Given the description of an element on the screen output the (x, y) to click on. 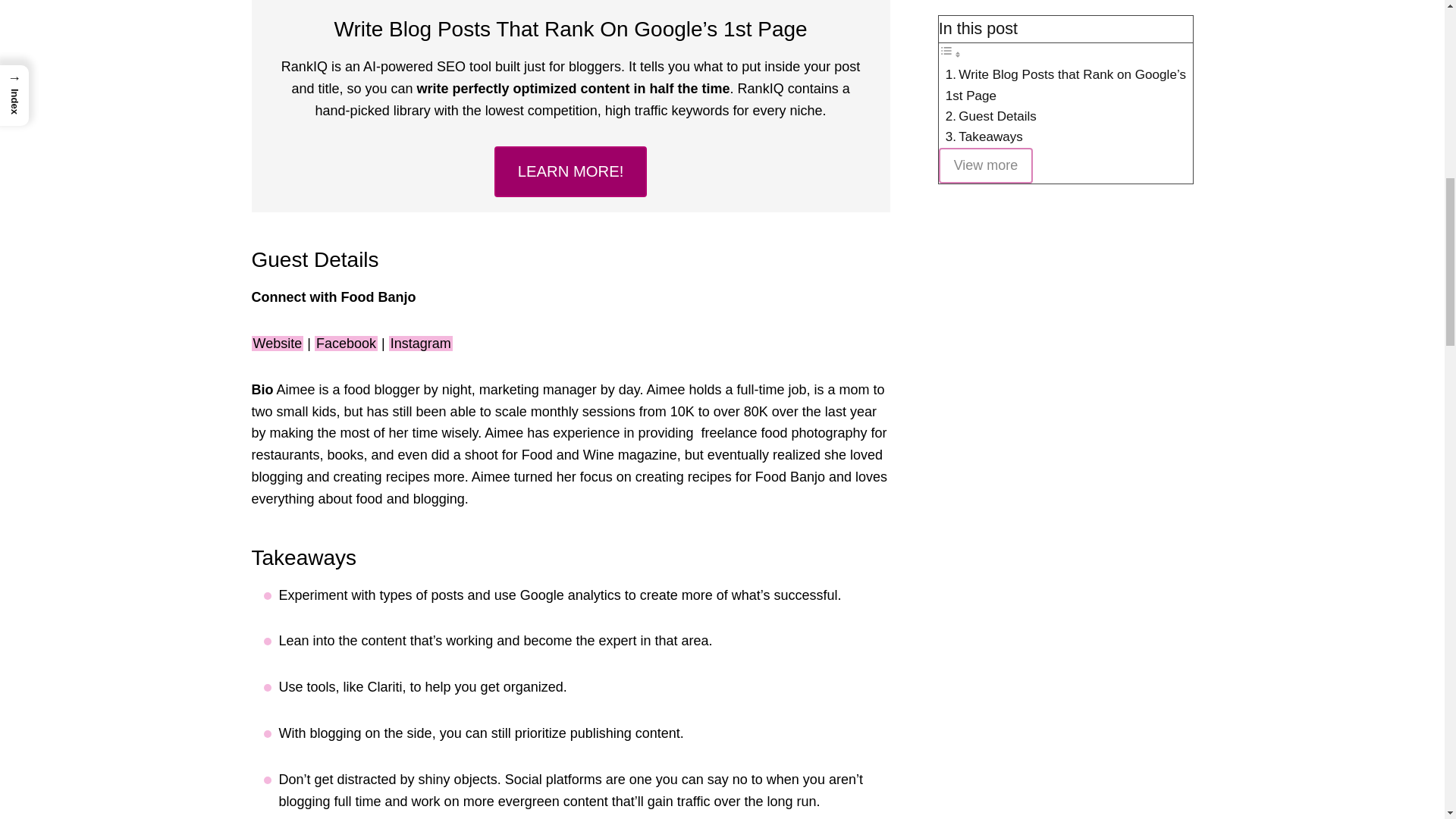
LEARN MORE! (571, 171)
Facebook (345, 343)
Instagram (420, 343)
Website (277, 343)
